Given the description of an element on the screen output the (x, y) to click on. 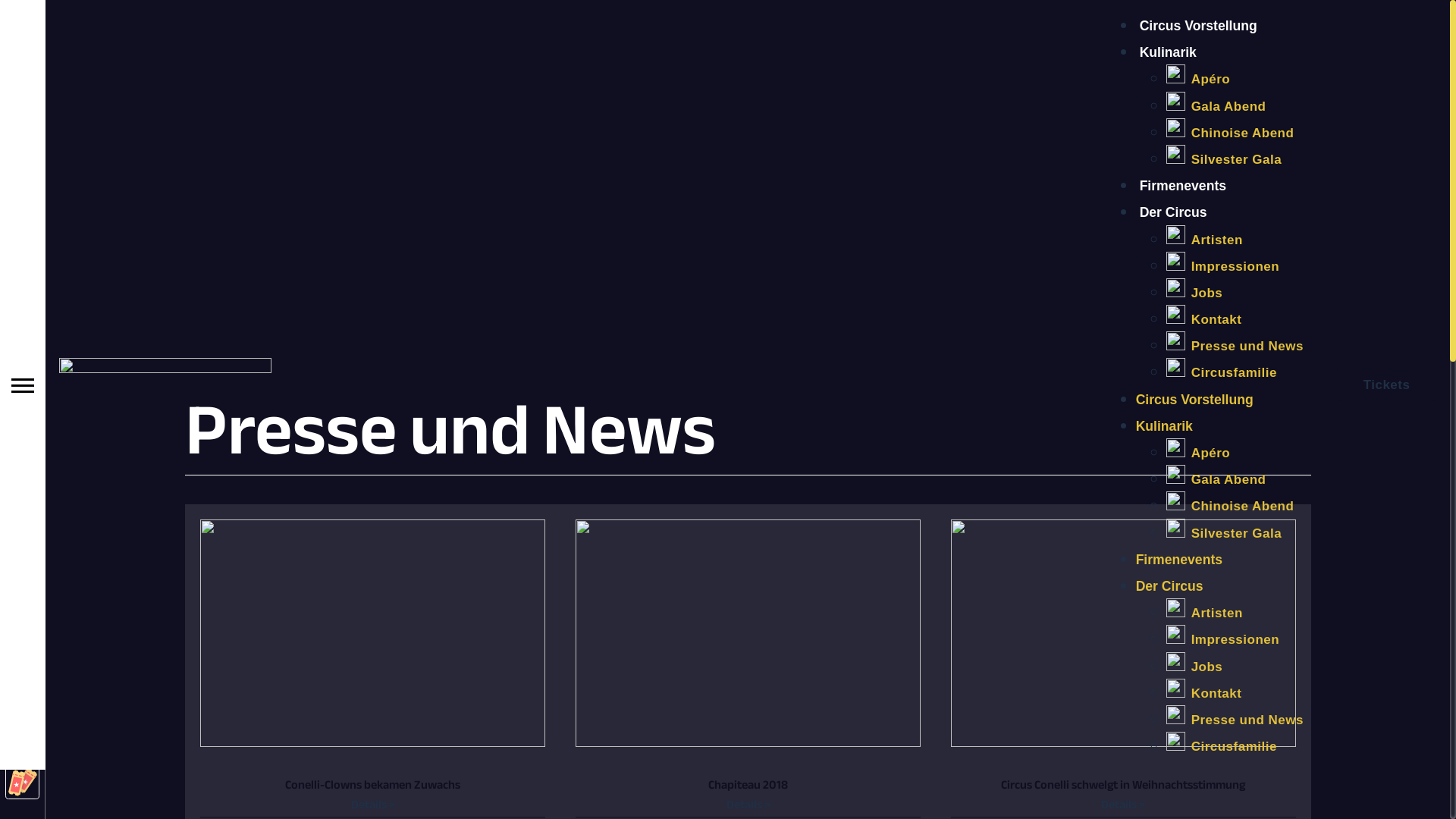
Chinoise Abend Element type: text (1230, 505)
Chinoise Abend Element type: text (1230, 132)
Tickets Element type: text (1386, 384)
Impressionen Element type: text (1223, 266)
Circus Vorstellung Element type: text (1194, 399)
Circusfamilie Element type: text (1221, 372)
Circus Vorstellung Element type: text (1198, 25)
Kulinarik Element type: text (1167, 51)
Jobs Element type: text (1194, 292)
Artisten Element type: text (1204, 612)
Kulinarik Element type: text (1163, 425)
Kontakt Element type: text (1204, 693)
Silvester Gala Element type: text (1223, 533)
Gala Abend Element type: text (1216, 479)
Jobs Element type: text (1194, 666)
Impressionen Element type: text (1223, 639)
Artisten Element type: text (1204, 239)
Presse und News Element type: text (1234, 345)
Gala Abend Element type: text (1216, 106)
Silvester Gala Element type: text (1223, 159)
Kontakt Element type: text (1204, 319)
Presse und News Element type: text (1234, 719)
Firmenevents Element type: text (1182, 185)
Der Circus Element type: text (1173, 211)
Firmenevents Element type: text (1178, 559)
Der Circus Element type: text (1169, 585)
Circusfamilie Element type: text (1221, 746)
